Given the description of an element on the screen output the (x, y) to click on. 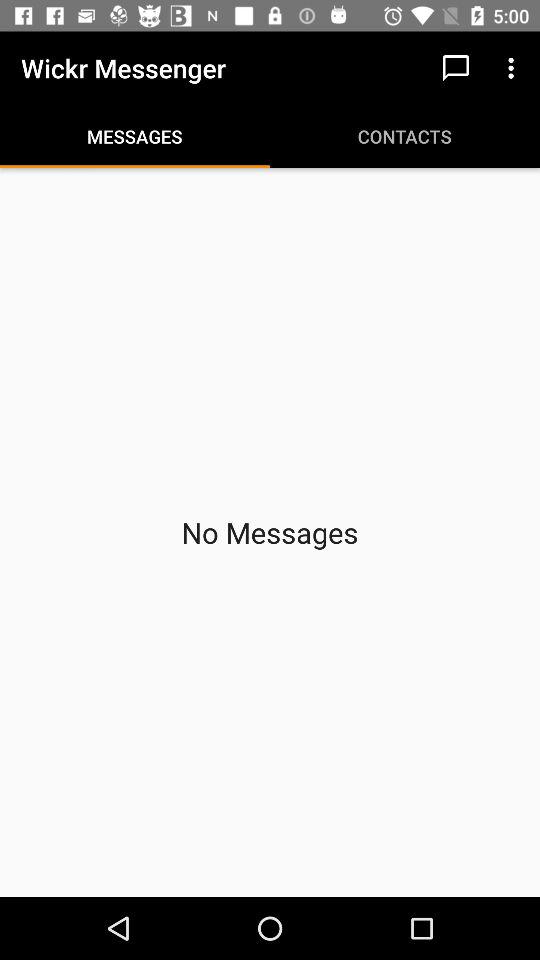
select the icon above contacts item (455, 67)
